Given the description of an element on the screen output the (x, y) to click on. 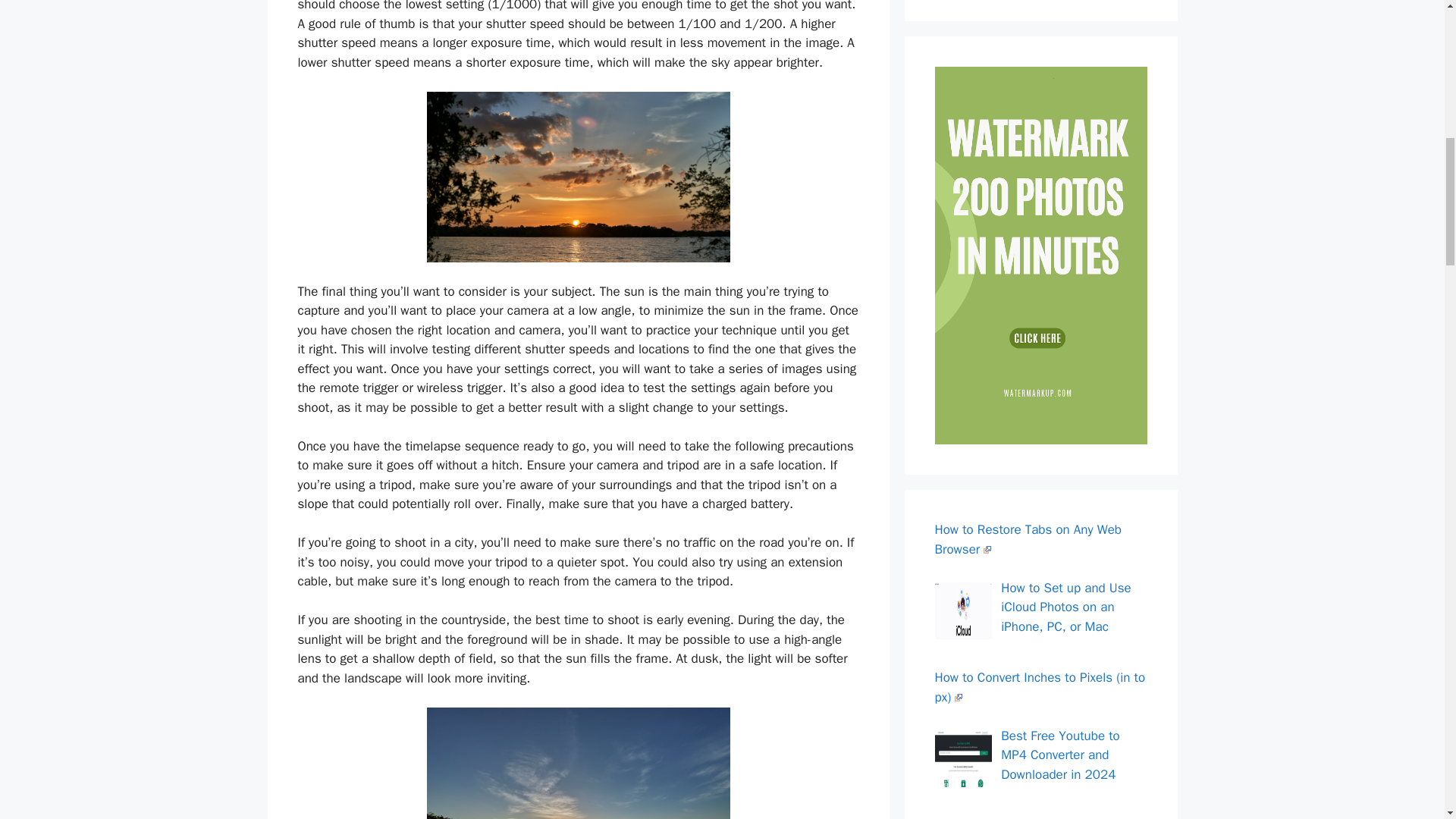
BEST FREE Youtube Downloader Apps in 2023 (1057, 818)
Best Free Youtube to MP4 Converter and Downloader in 2024 (1060, 755)
How to Set up and Use iCloud Photos on an iPhone, PC, or Mac (1066, 606)
Sunset Timelapse (577, 176)
How to Restore Tabs on Any Web Browser (1027, 539)
Sunset Timelapse (577, 763)
